Given the description of an element on the screen output the (x, y) to click on. 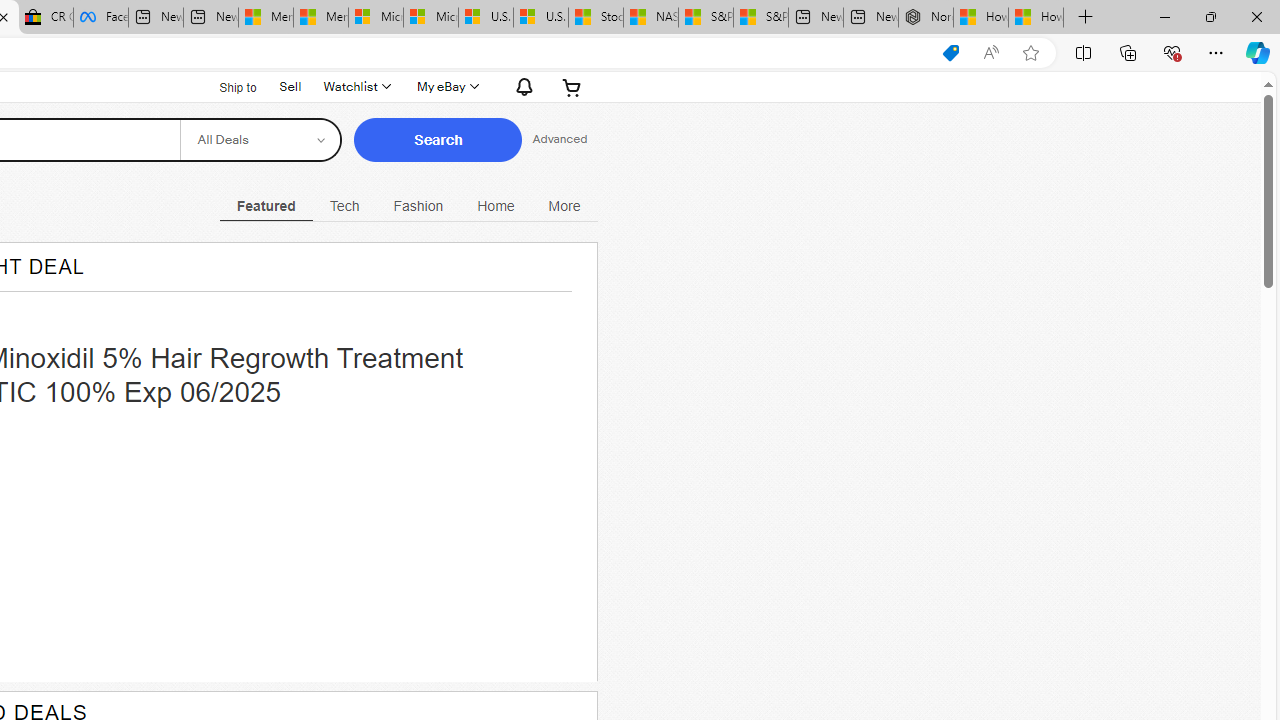
Collections (1128, 52)
New Tab (1085, 17)
Advanced Search (559, 139)
Watchlist (355, 86)
Ship to (225, 87)
My eBay (445, 86)
Tech (344, 205)
Class: navigation-desktop-with-flyout open-left (564, 203)
My eBayExpand My eBay (445, 86)
S&P 500, Nasdaq end lower, weighed by Nvidia dip | Watch (760, 17)
Split screen (1083, 52)
